Given the description of an element on the screen output the (x, y) to click on. 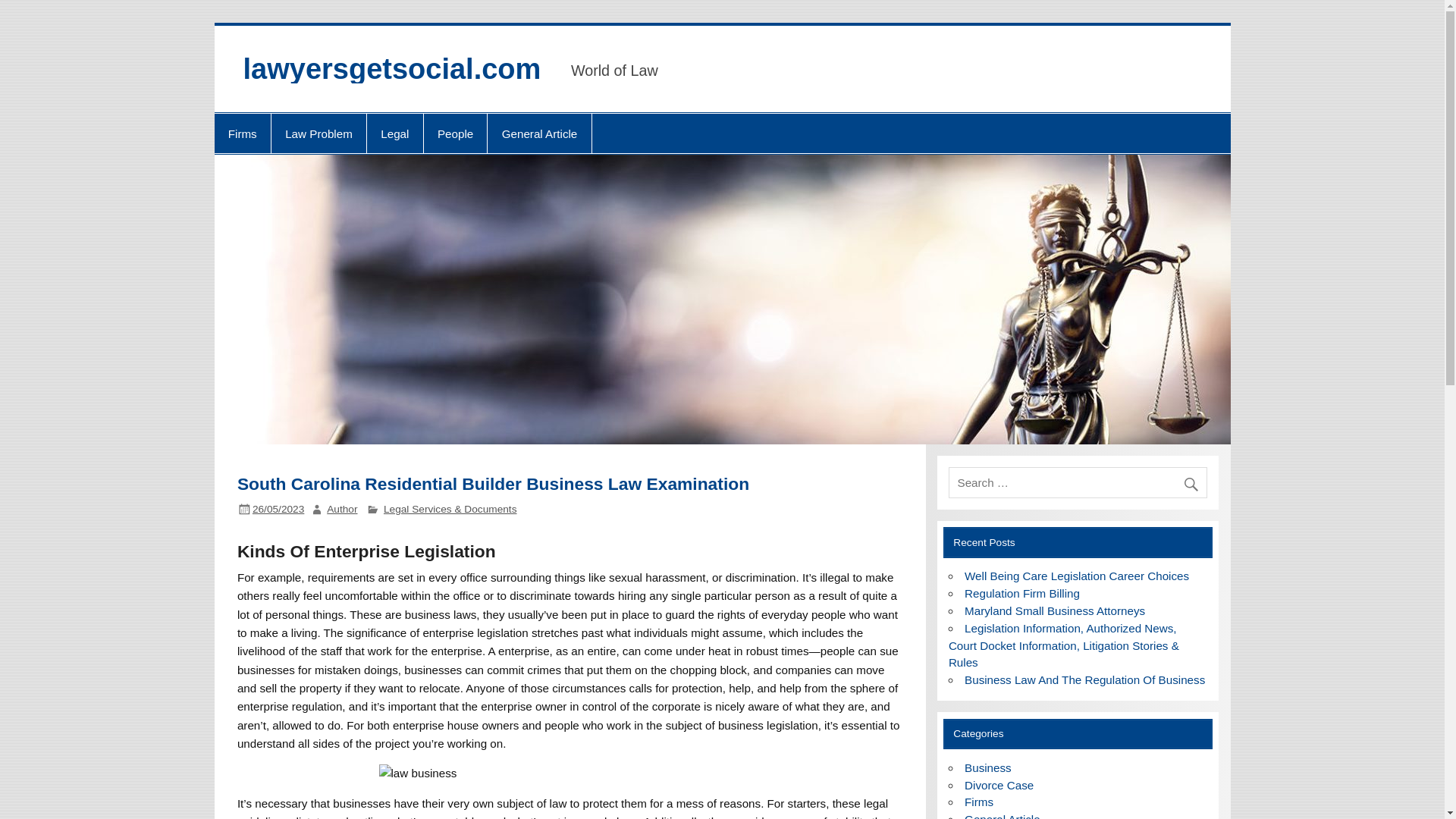
Regulation Firm Billing (1021, 593)
Legal (394, 133)
Well Being Care Legislation Career Choices (1076, 575)
lawyersgetsocial.com (391, 69)
General Article (539, 133)
18:04 (277, 509)
Law Problem (318, 133)
People (455, 133)
Author (341, 509)
Firms (241, 133)
View all posts by Author (341, 509)
